Given the description of an element on the screen output the (x, y) to click on. 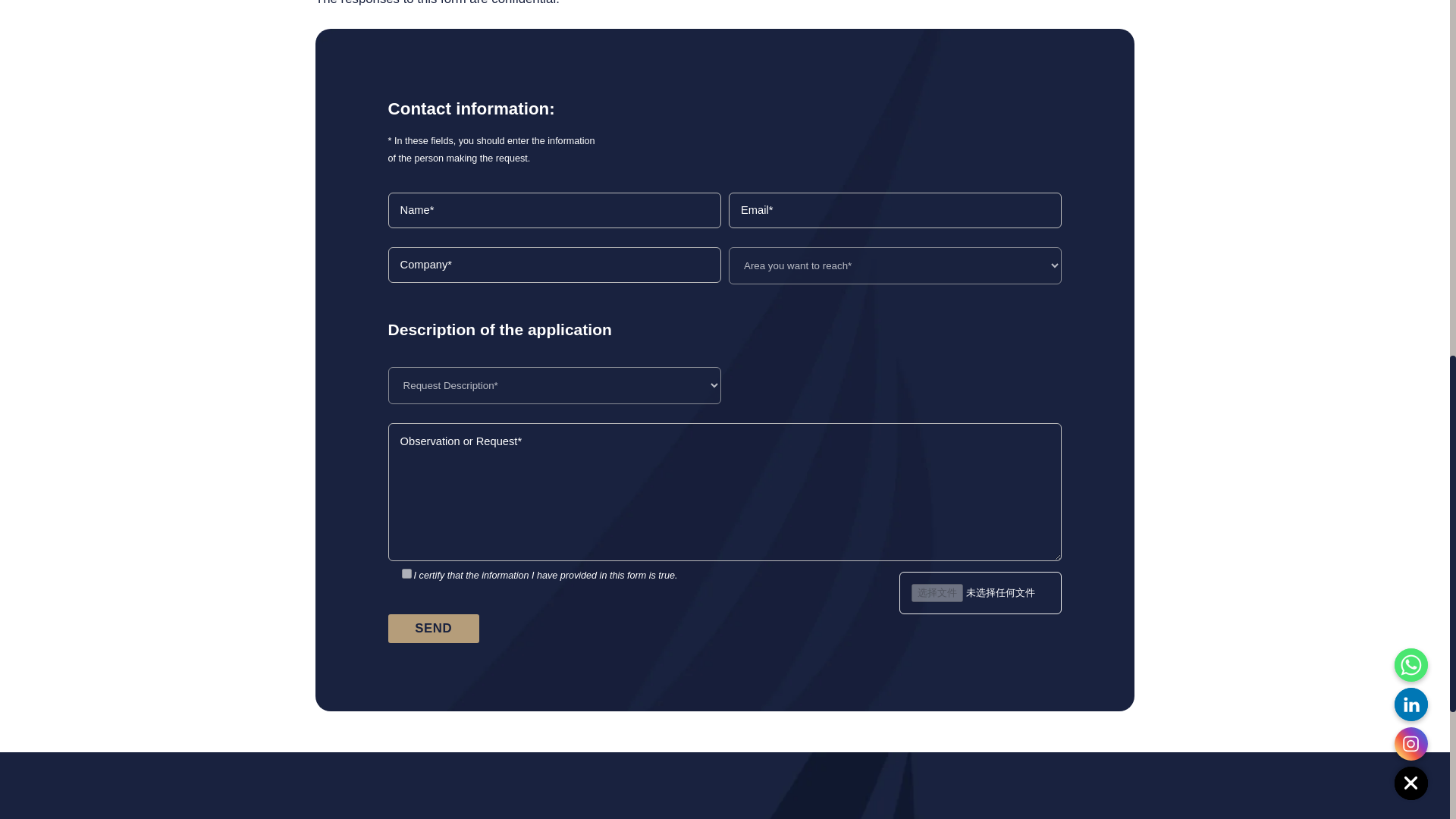
1 (406, 573)
SEND (433, 628)
